Given the description of an element on the screen output the (x, y) to click on. 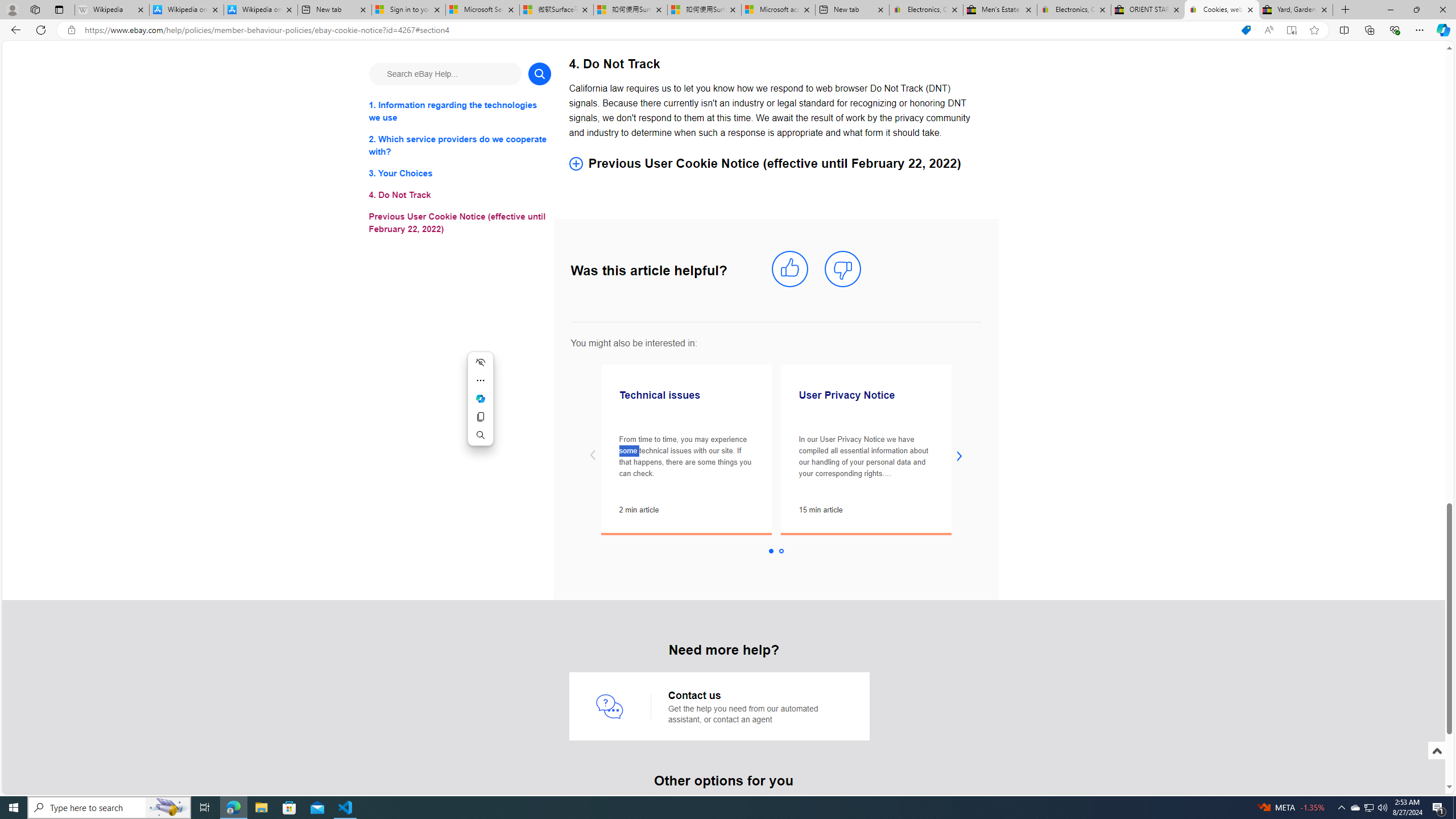
Copy (480, 416)
Microsoft account | Account Checkup (777, 9)
Search eBay Help... (444, 73)
mark this article not helpful (842, 269)
next slide (959, 455)
Yard, Garden & Outdoor Living (1295, 9)
